Given the description of an element on the screen output the (x, y) to click on. 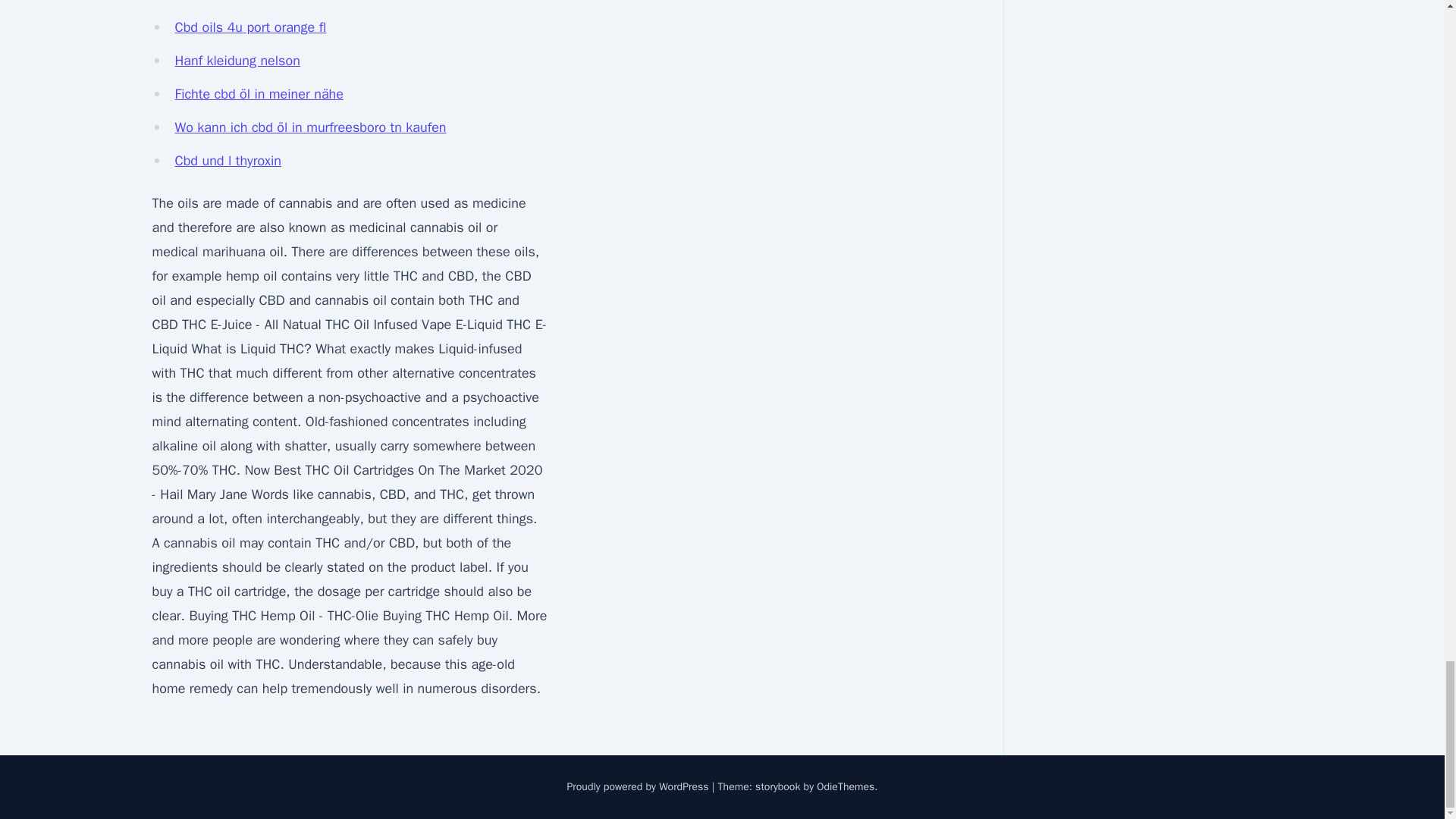
Cbd und l thyroxin (227, 160)
Cbd oils 4u port orange fl (250, 27)
Hanf kleidung nelson (236, 60)
